Given the description of an element on the screen output the (x, y) to click on. 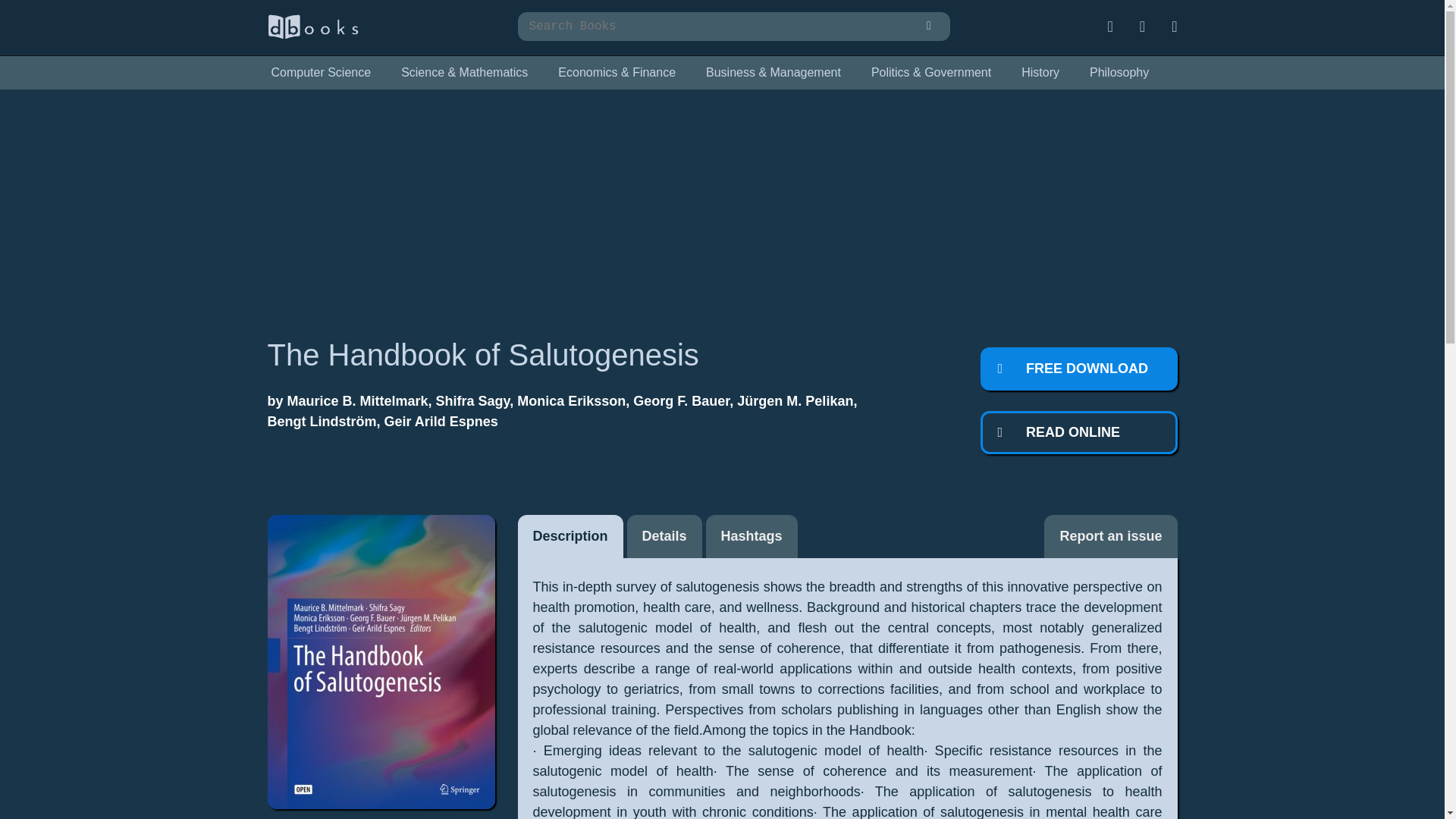
Computer Science (320, 72)
Science and Mathematics (464, 72)
History (1039, 72)
Philosophy (1119, 72)
Politics and Government (930, 72)
Economics and Finance (616, 72)
Computer Science (320, 72)
Details (664, 536)
Description (569, 536)
Report an issue (1109, 536)
READ ONLINE (1077, 432)
Hashtags (751, 536)
dBooks.org (312, 35)
FREE DOWNLOAD (1077, 368)
Business and Management (772, 72)
